Given the description of an element on the screen output the (x, y) to click on. 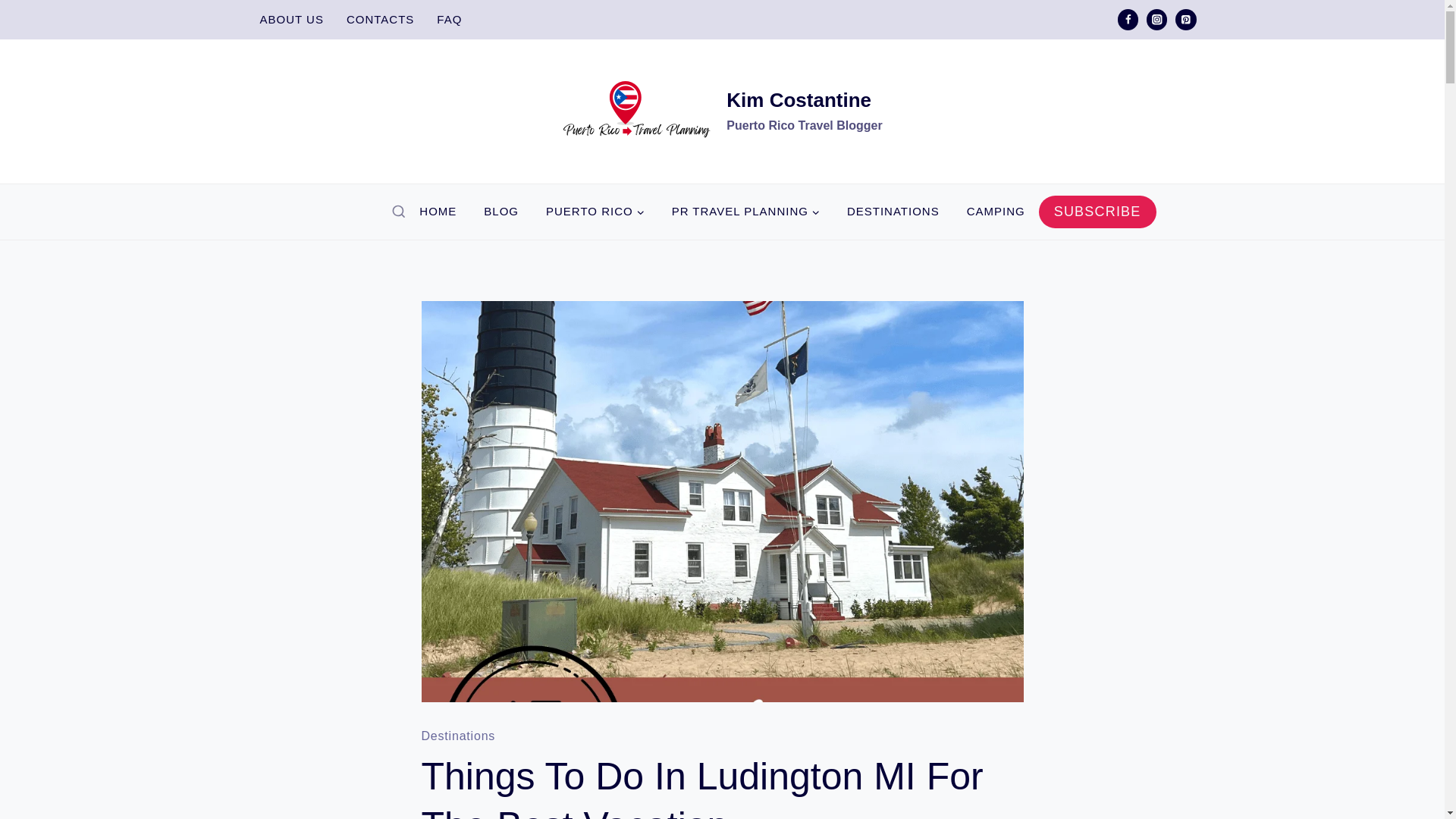
CAMPING (996, 211)
PR TRAVEL PLANNING (745, 211)
DESTINATIONS (892, 211)
HOME (438, 211)
ABOUT US (291, 20)
FAQ (449, 20)
SUBSCRIBE (1097, 211)
PUERTO RICO (595, 211)
CONTACTS (379, 20)
Destinations (459, 735)
